Given the description of an element on the screen output the (x, y) to click on. 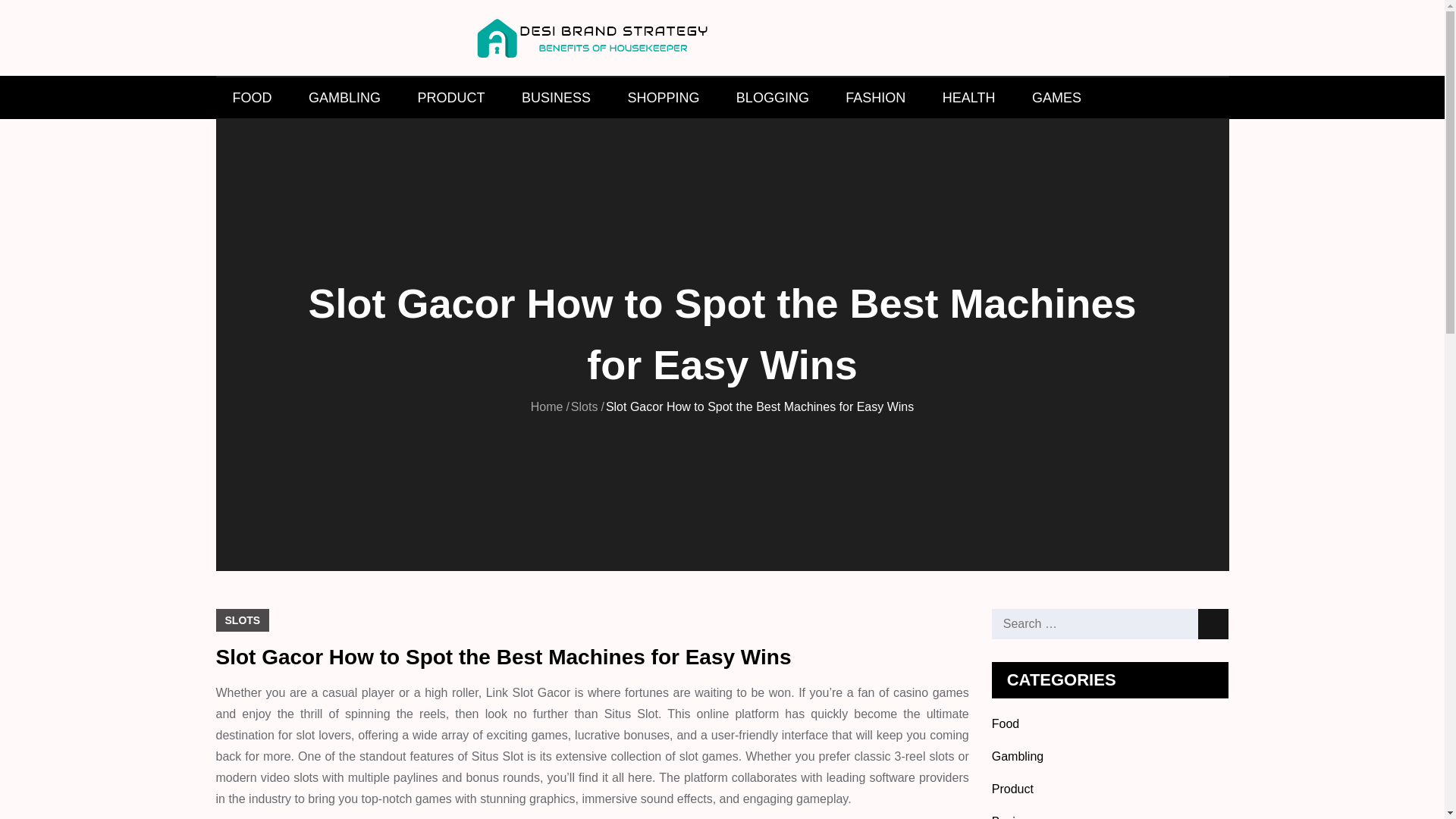
Search (1213, 624)
FOOD (251, 96)
BLOGGING (772, 96)
Business (1016, 816)
Gambling (1017, 756)
GAMES (1055, 96)
SEARCH (1206, 96)
Slots (584, 405)
PRODUCT (450, 96)
HEALTH (968, 96)
FASHION (874, 96)
Home (547, 405)
Food (1005, 723)
BUSINESS (556, 96)
SHOPPING (663, 96)
